Given the description of an element on the screen output the (x, y) to click on. 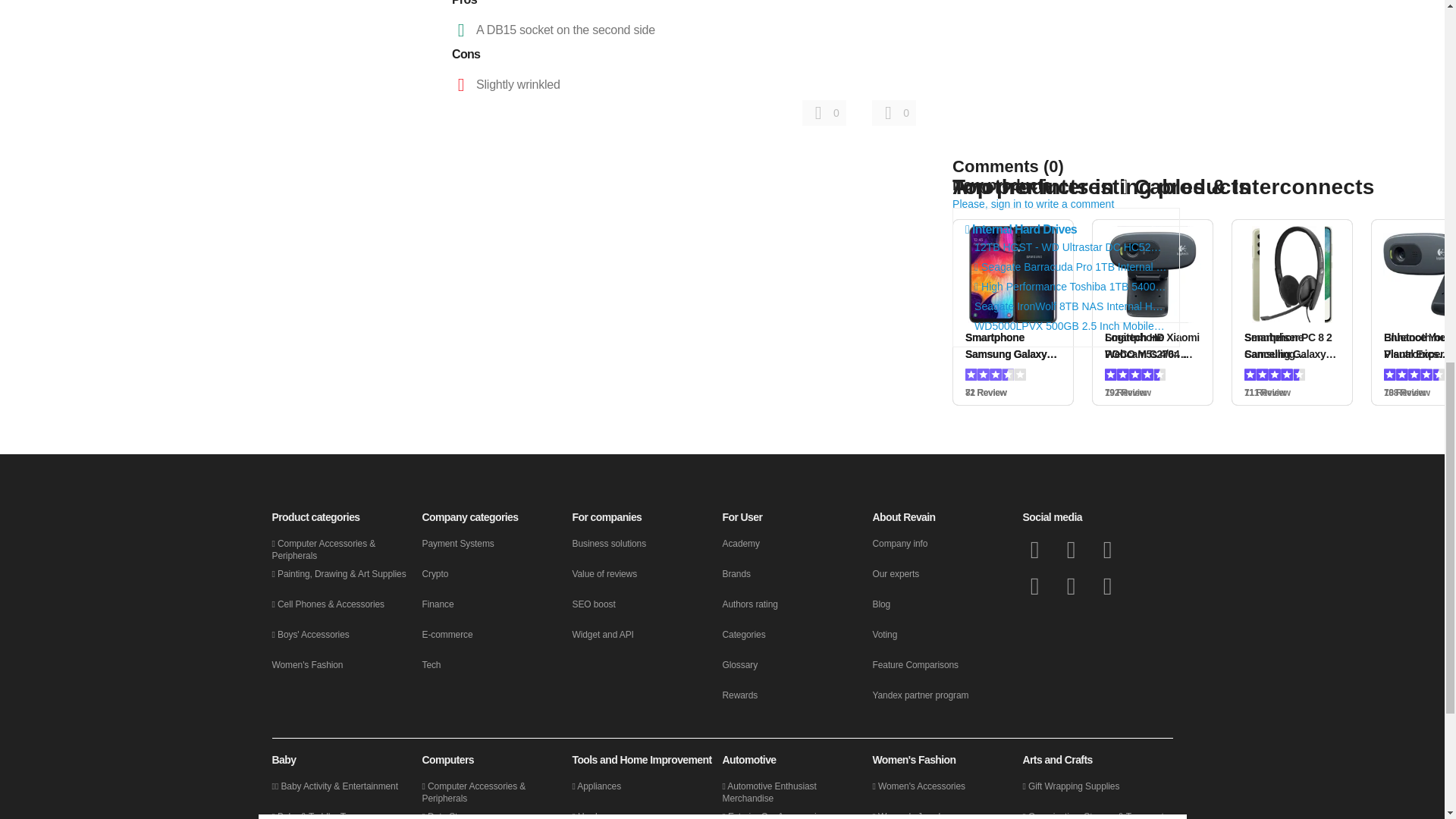
 0 (823, 112)
Please, sign in to perform this action (823, 112)
Revain Telegram channel (1034, 586)
Revain Pinterest (1106, 586)
Please, sign in to perform this action (893, 112)
Revain Twitter (1070, 549)
Revain Telegram group (1106, 549)
Revain Facebook (1034, 549)
 0 (893, 112)
Revain Instagram (1070, 586)
